Given the description of an element on the screen output the (x, y) to click on. 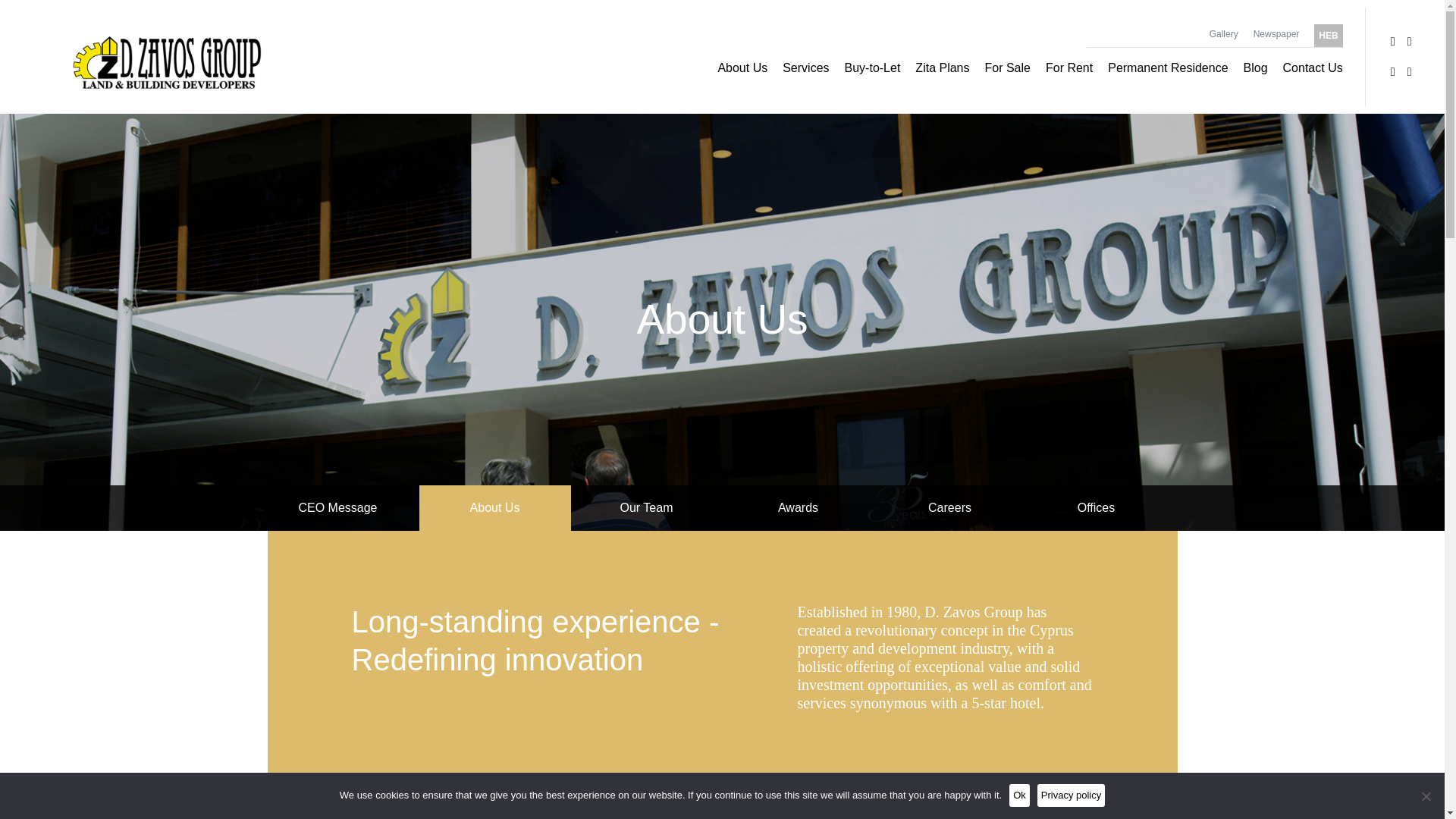
Services (805, 67)
Gallery (1224, 33)
No (1425, 795)
For Rent (1069, 67)
Newspaper (1276, 33)
About Us (742, 67)
Buy-to-Let (872, 67)
HEB (1328, 35)
Zita Plans (942, 67)
For Sale (1006, 67)
